Given the description of an element on the screen output the (x, y) to click on. 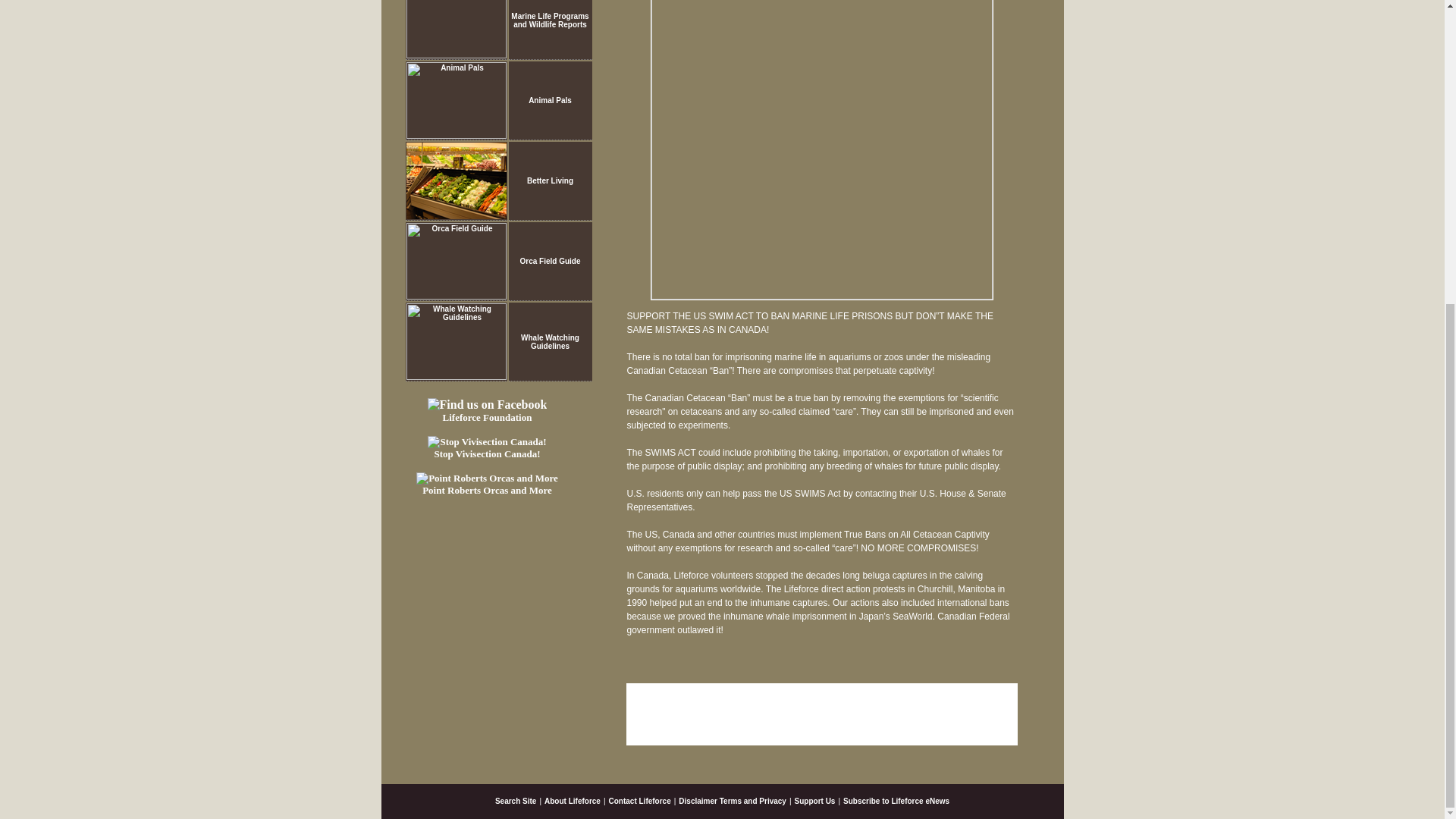
Stop Vivisection Canada! (487, 447)
About Lifeforce (571, 800)
Point Roberts Orcas and More (486, 484)
Orca Field Guide (549, 261)
Contact Lifeforce (639, 800)
Marine Life Programs and Wildlife Reports (549, 20)
Subscribe to Lifeforce eNews (896, 800)
Whale Watching Guidelines (550, 341)
Animal Pals (550, 100)
Support Us (814, 800)
